Given the description of an element on the screen output the (x, y) to click on. 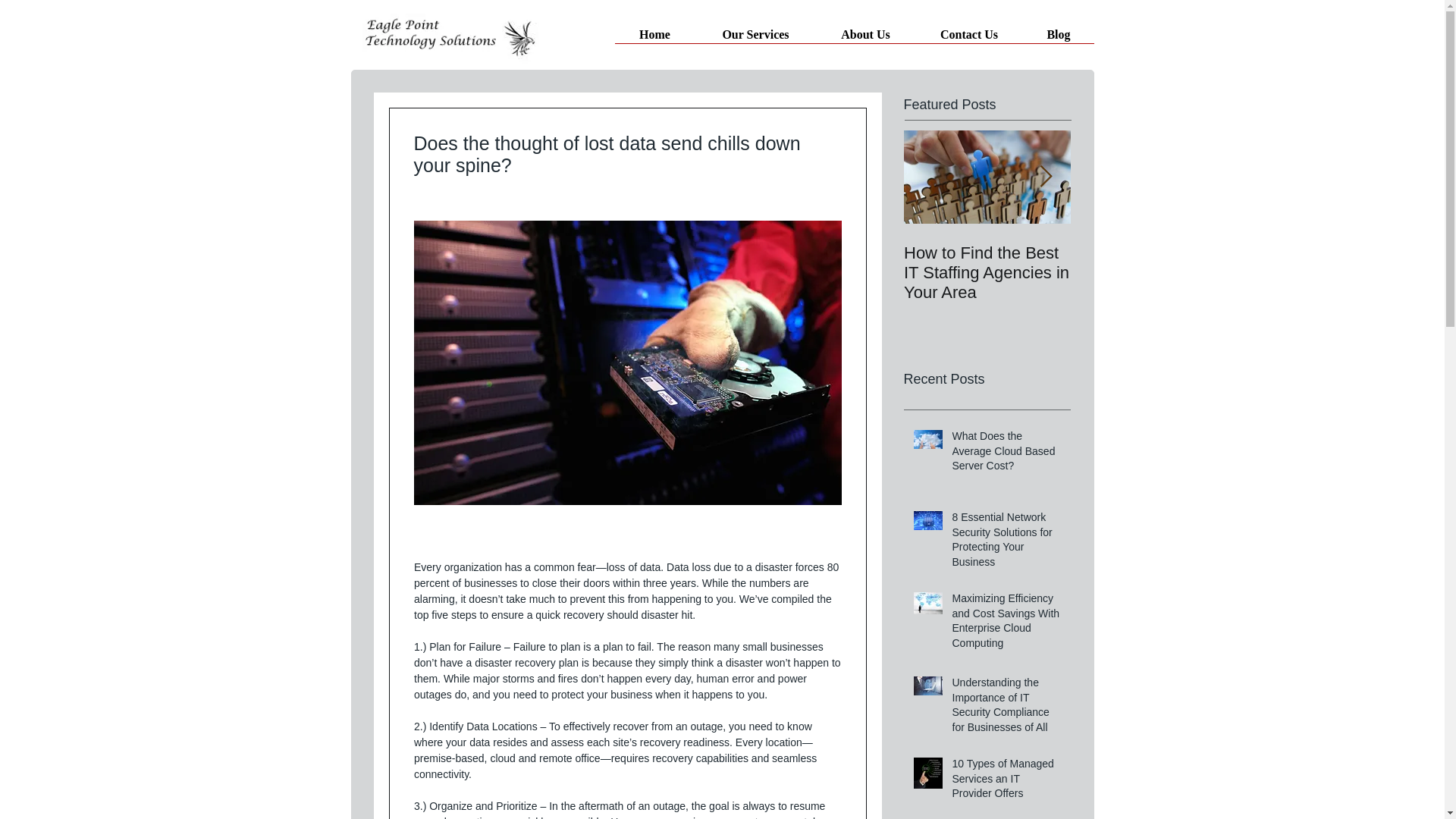
10 Types of Managed Services an IT Provider Offers (1006, 781)
Contact Us (968, 39)
How to Find the Best IT Staffing Agencies in Your Area (987, 272)
About Us (864, 39)
Home (654, 39)
Blog (1058, 39)
